Given the description of an element on the screen output the (x, y) to click on. 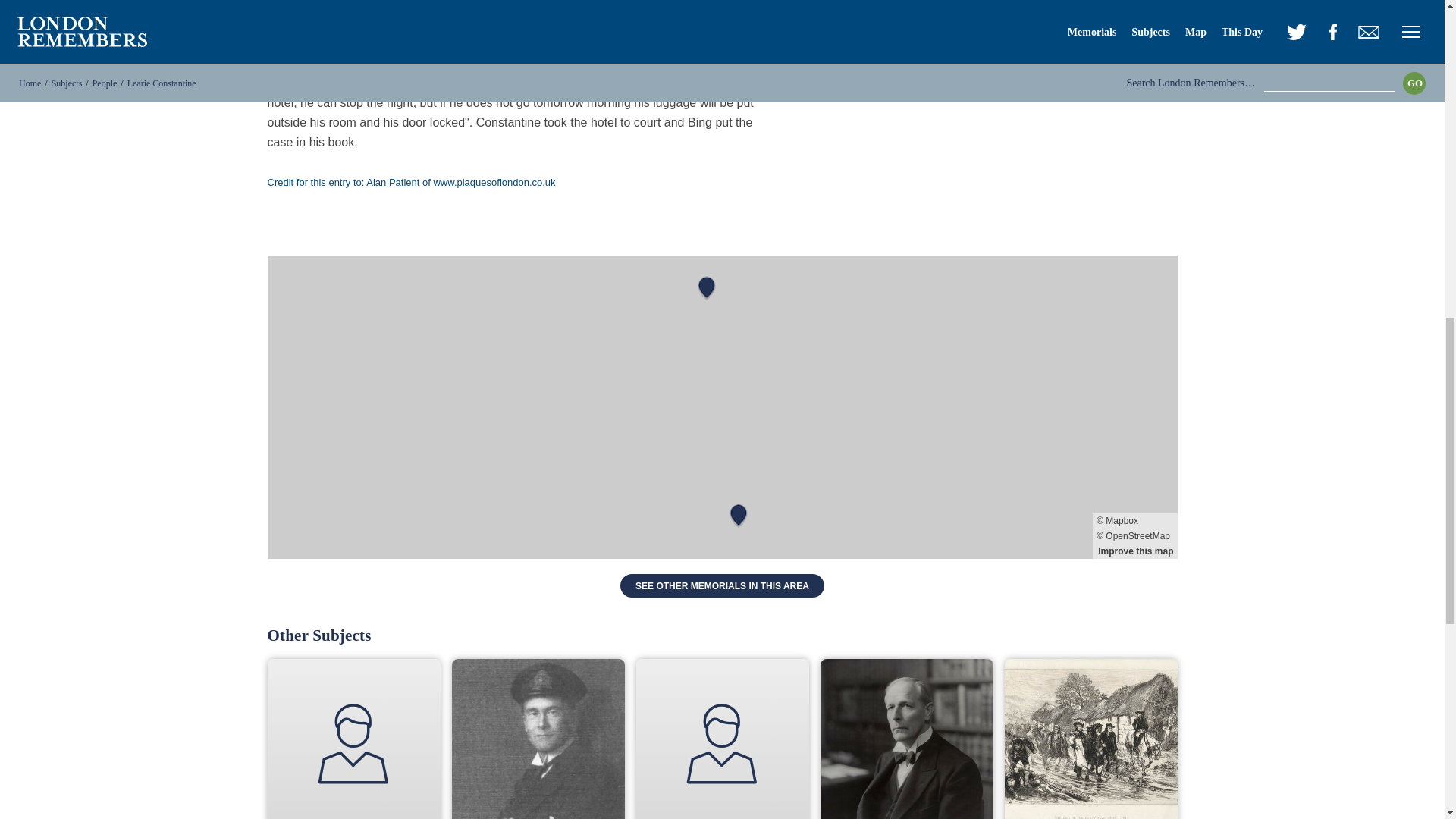
Improve this map (1135, 550)
OpenStreetMap (1134, 535)
Imperial Hotel (510, 72)
Mapbox (1134, 520)
